Given the description of an element on the screen output the (x, y) to click on. 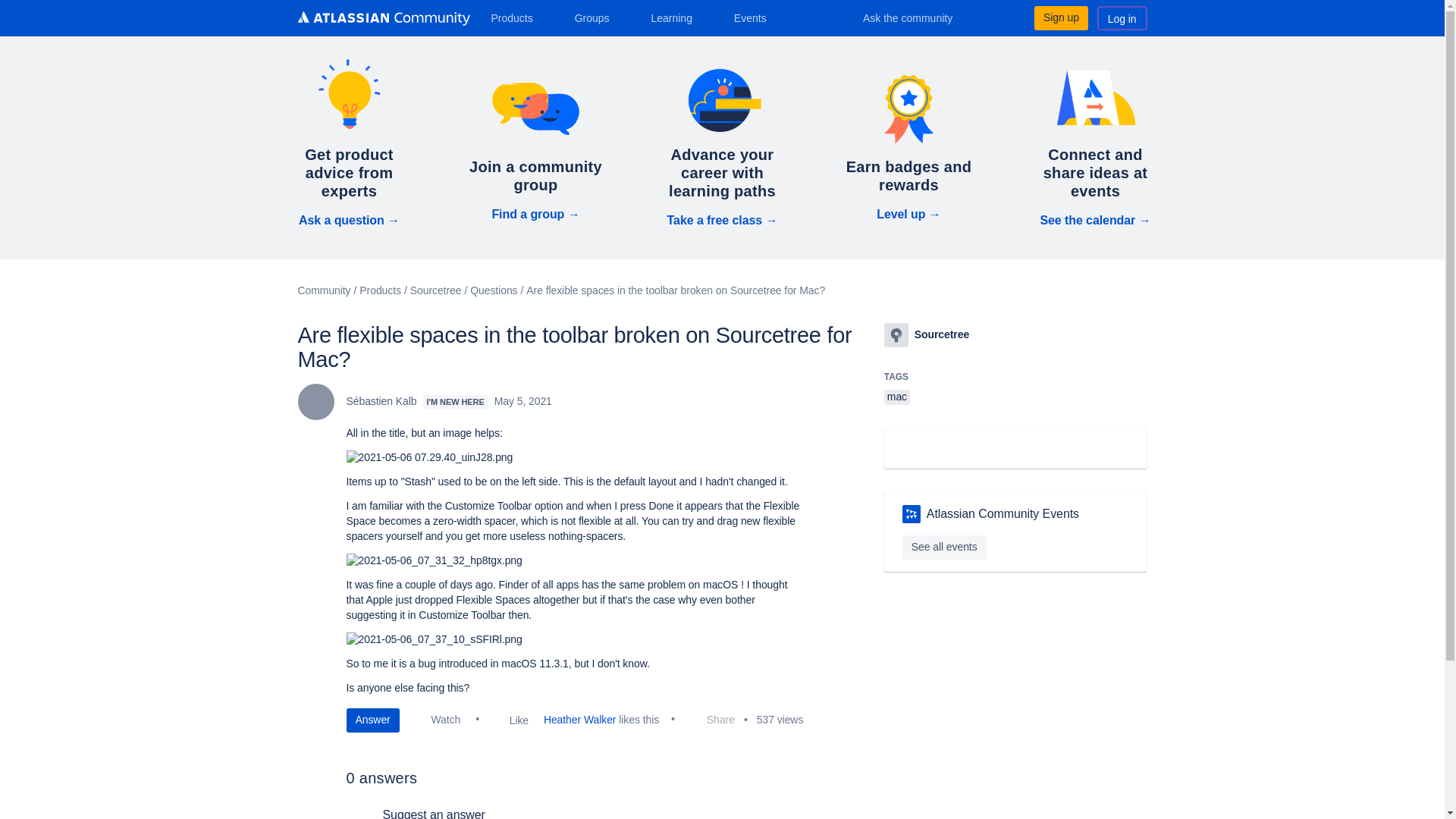
AUG Leaders (911, 514)
Groups (598, 17)
Sourcetree (895, 334)
Sign up (1060, 17)
Events (756, 17)
Learning (676, 17)
Atlassian Community logo (382, 19)
Products (517, 17)
Log in (1122, 17)
Ask the community  (917, 17)
Atlassian Community logo (382, 18)
